Given the description of an element on the screen output the (x, y) to click on. 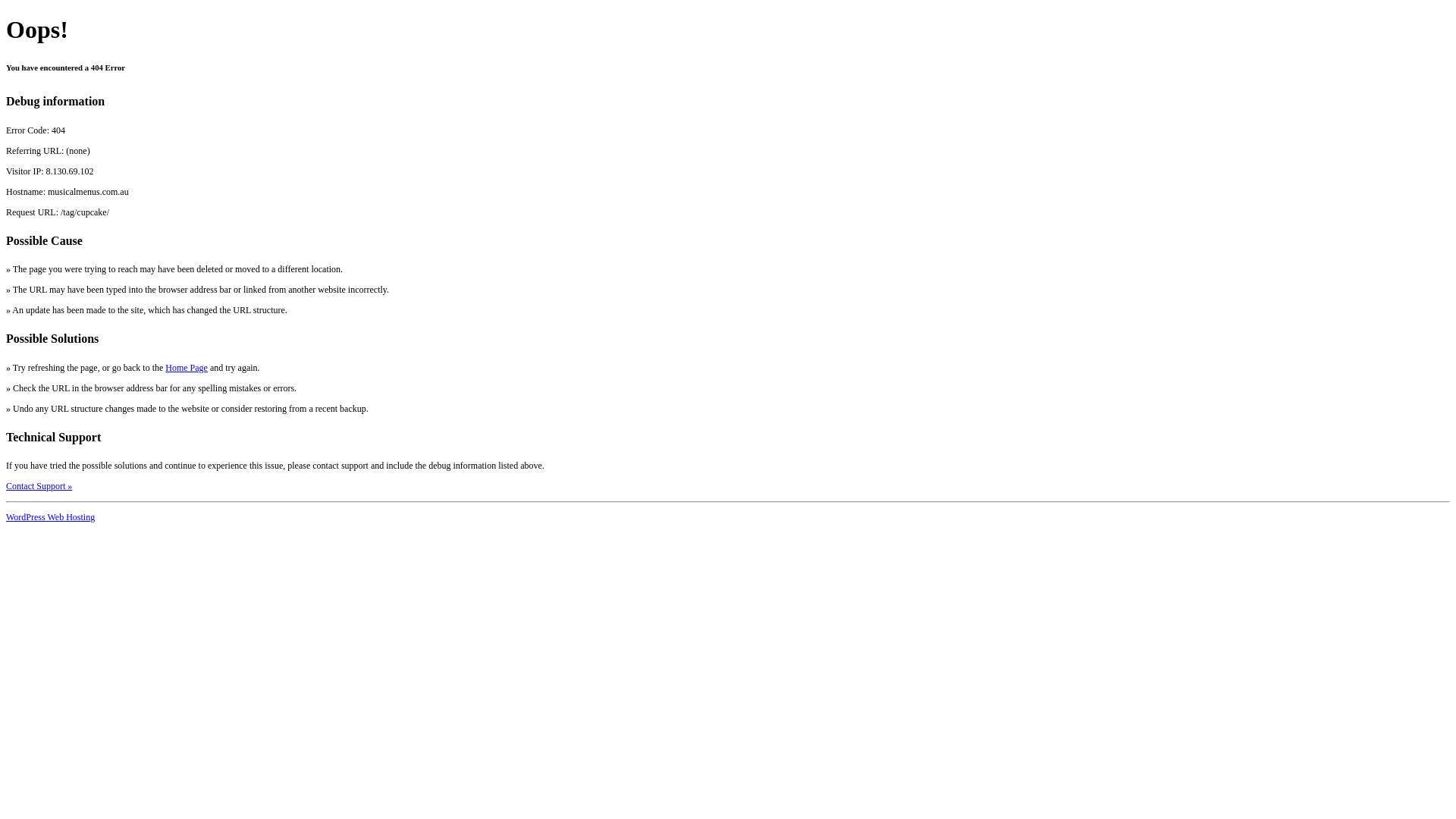
WordPress Web Hosting Element type: text (50, 516)
Home Page Element type: text (186, 367)
